Given the description of an element on the screen output the (x, y) to click on. 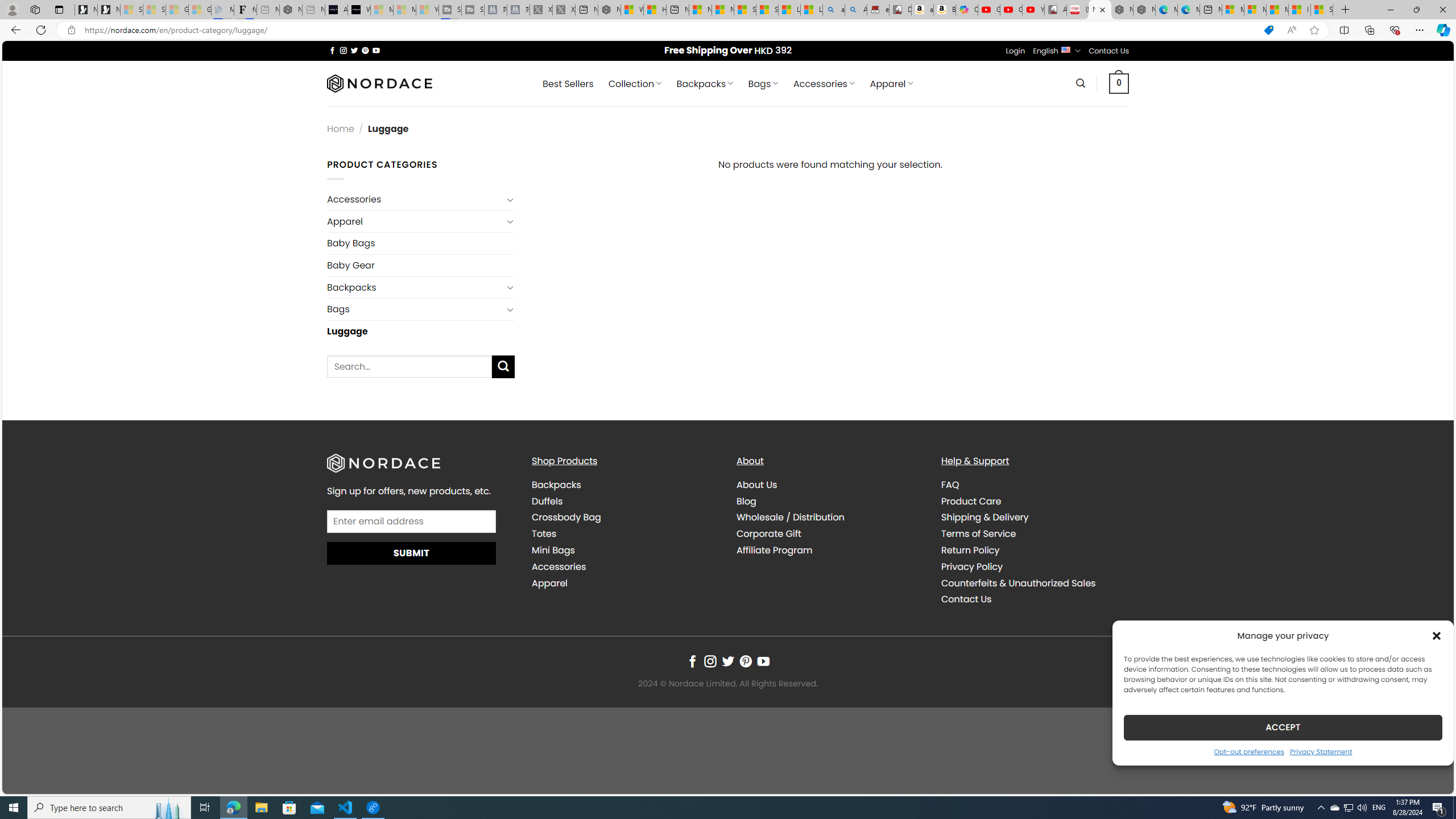
Duffels (625, 501)
Accessories (625, 566)
Streaming Coverage | T3 - Sleeping (449, 9)
About Us (756, 484)
Contact Us (1034, 599)
About Us (830, 484)
AutomationID: input_4_1 (411, 521)
All Cubot phones (1055, 9)
